Given the description of an element on the screen output the (x, y) to click on. 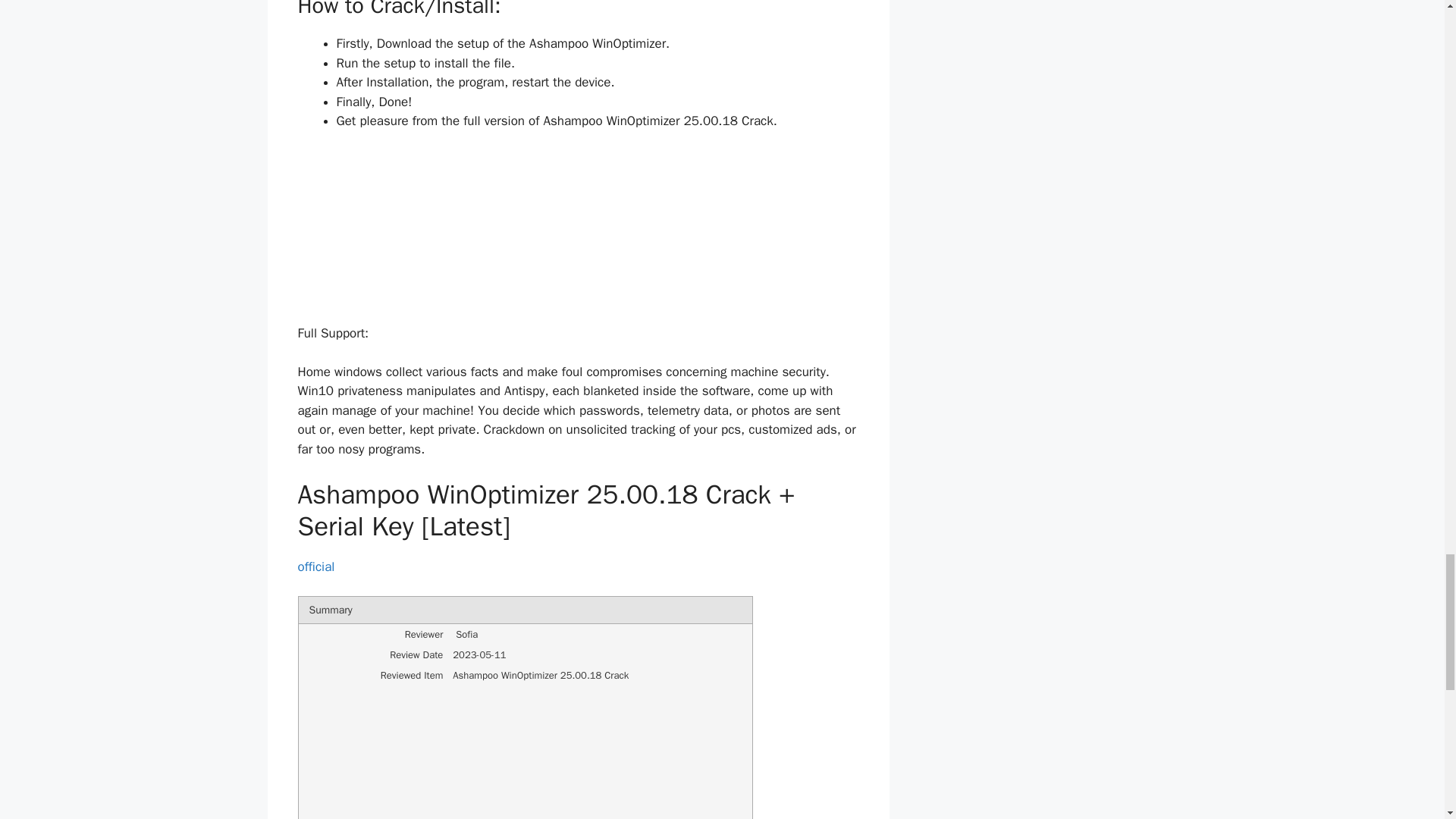
Ashampoo WinOptimizer (578, 226)
official (315, 566)
